Given the description of an element on the screen output the (x, y) to click on. 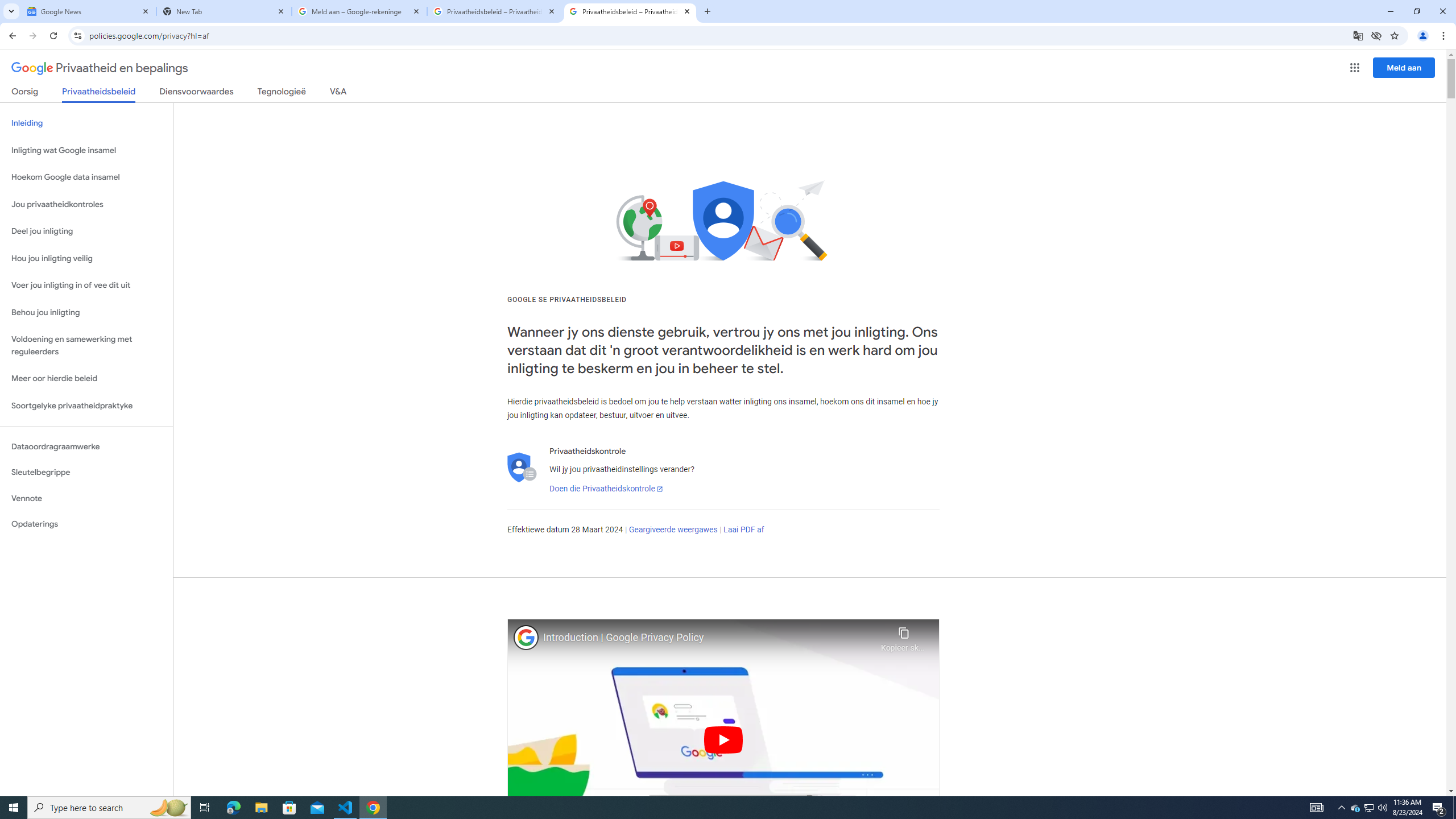
Insert Endnote (266, 72)
Sign in (1304, 18)
Post comment (Ctrl + Enter) (1344, 279)
Repeat Accessibility Checker (193, 18)
Show Notes (260, 112)
Search (357, 92)
Undo Apply Quick Style Set (159, 18)
